Given the description of an element on the screen output the (x, y) to click on. 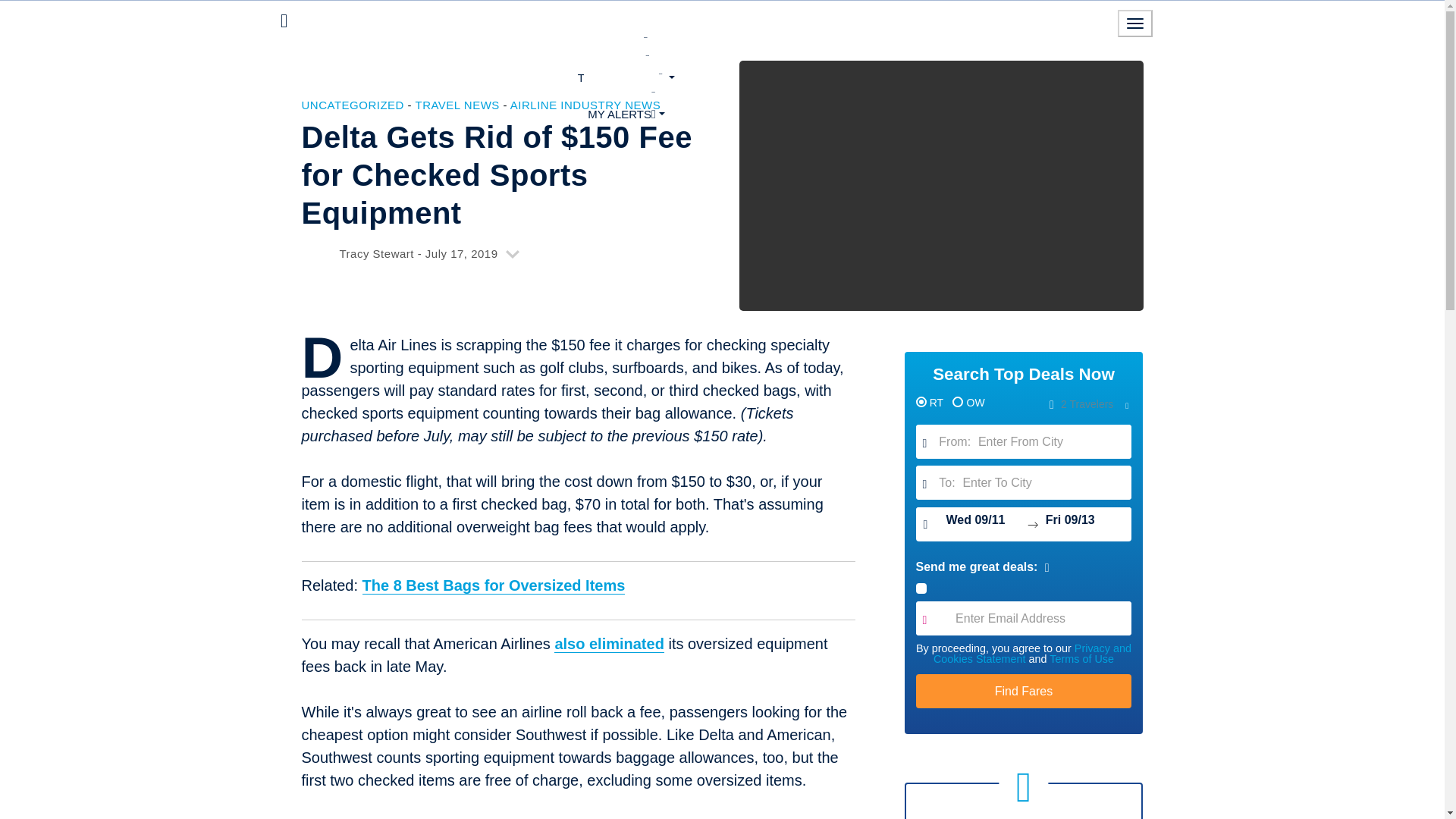
FLIGHTS (625, 40)
TRAVEL BLOG (626, 77)
Toggle navigation (1135, 22)
AIRLINES (625, 58)
